Given the description of an element on the screen output the (x, y) to click on. 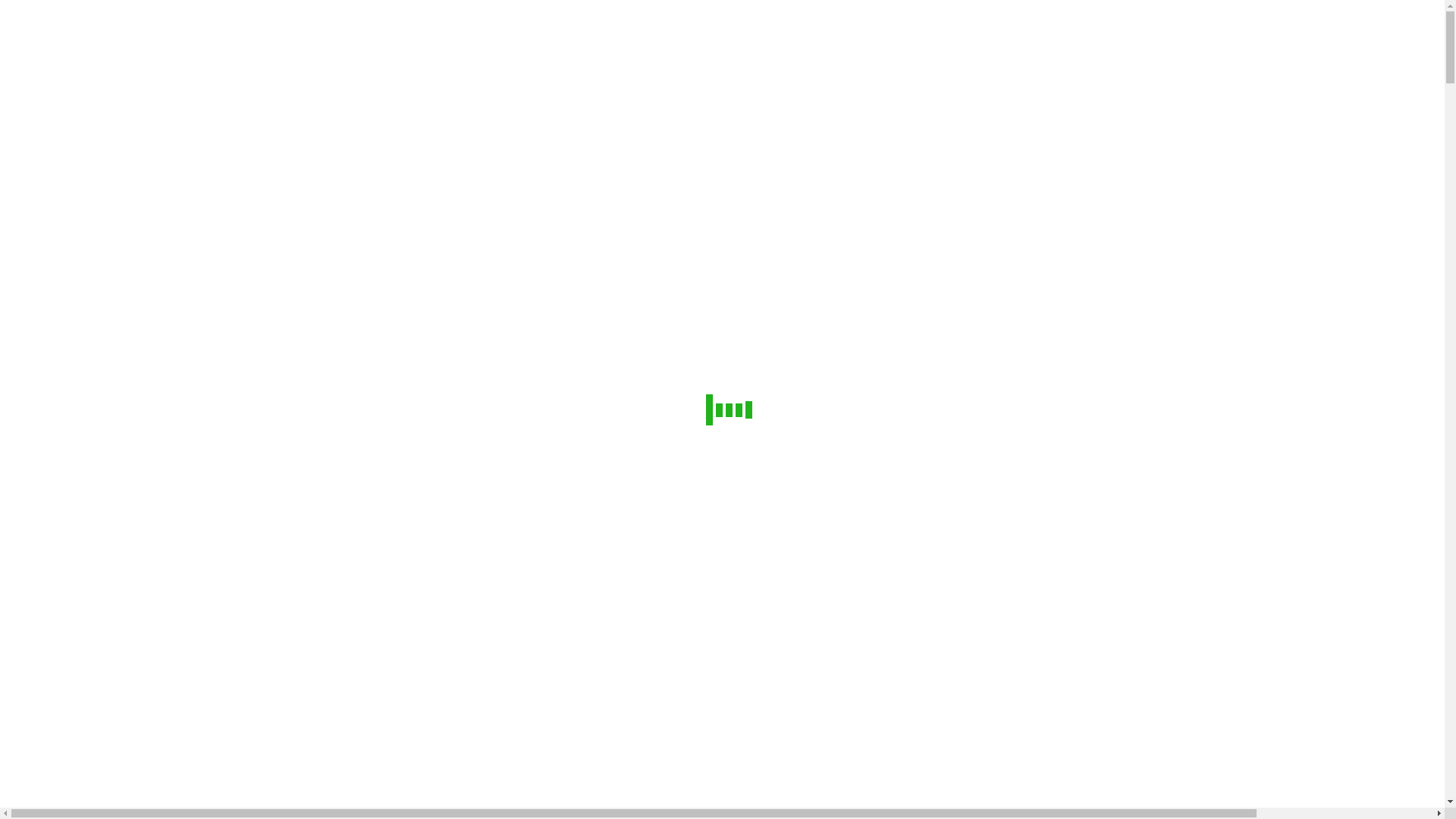
Home Element type: text (57, 338)
Our Services Element type: text (74, 366)
Follow us on Facebook Element type: text (95, 570)
Facebook page opens in new window Element type: text (103, 131)
Power Element type: text (85, 543)
Stump Removal Element type: text (136, 448)
Tree Pruning Element type: text (128, 393)
Home Element type: text (57, 740)
Professional Arborists Reports Element type: text (171, 502)
Instagram page opens in new window Element type: text (297, 145)
Palm Tree Removal And Cleaning Services Element type: text (202, 516)
Facebook page opens in new window Element type: text (103, 145)
Tree Climbing Element type: text (132, 420)
Mulch Sales Element type: text (127, 475)
Blog Element type: text (57, 584)
About GAB Group Element type: text (89, 352)
Wood Sales Element type: text (125, 489)
Trees Element type: text (84, 379)
Our Services Element type: text (74, 767)
Traffic Element type: text (89, 530)
Instagram page opens in new window Element type: text (297, 131)
Contact Element type: text (60, 598)
About GAB Group Element type: text (89, 753)
Chipping Element type: text (119, 461)
Gallery Element type: text (60, 557)
Tree Removal Element type: text (131, 407)
Power Line Vegetation Clearing Element type: text (174, 434)
Skip to content Element type: text (42, 12)
